Given the description of an element on the screen output the (x, y) to click on. 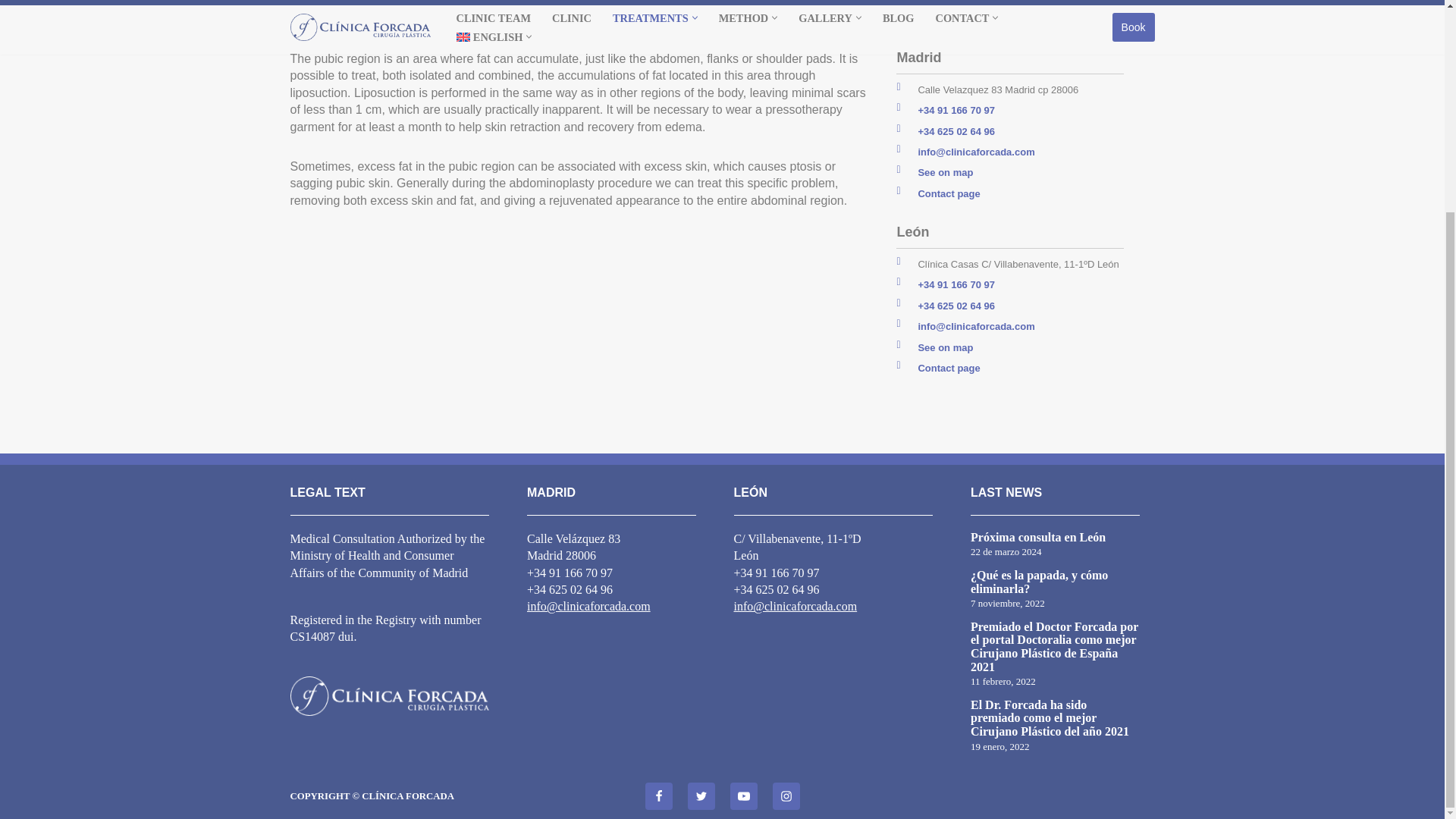
Youtube (743, 795)
Facebook (658, 795)
Twitter (700, 795)
Instagram (785, 795)
